Given the description of an element on the screen output the (x, y) to click on. 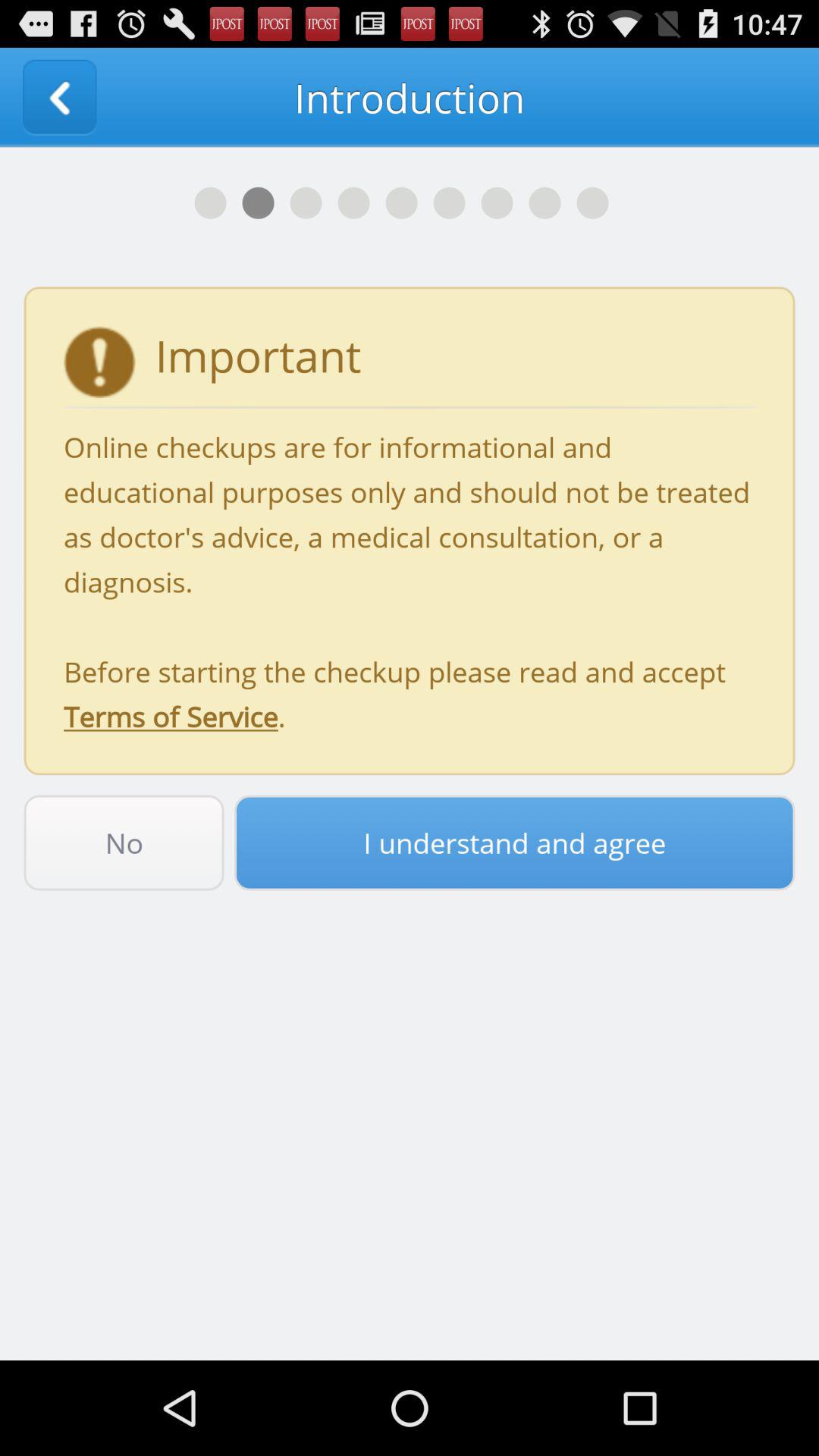
turn on icon to the left of the i understand and item (123, 842)
